Given the description of an element on the screen output the (x, y) to click on. 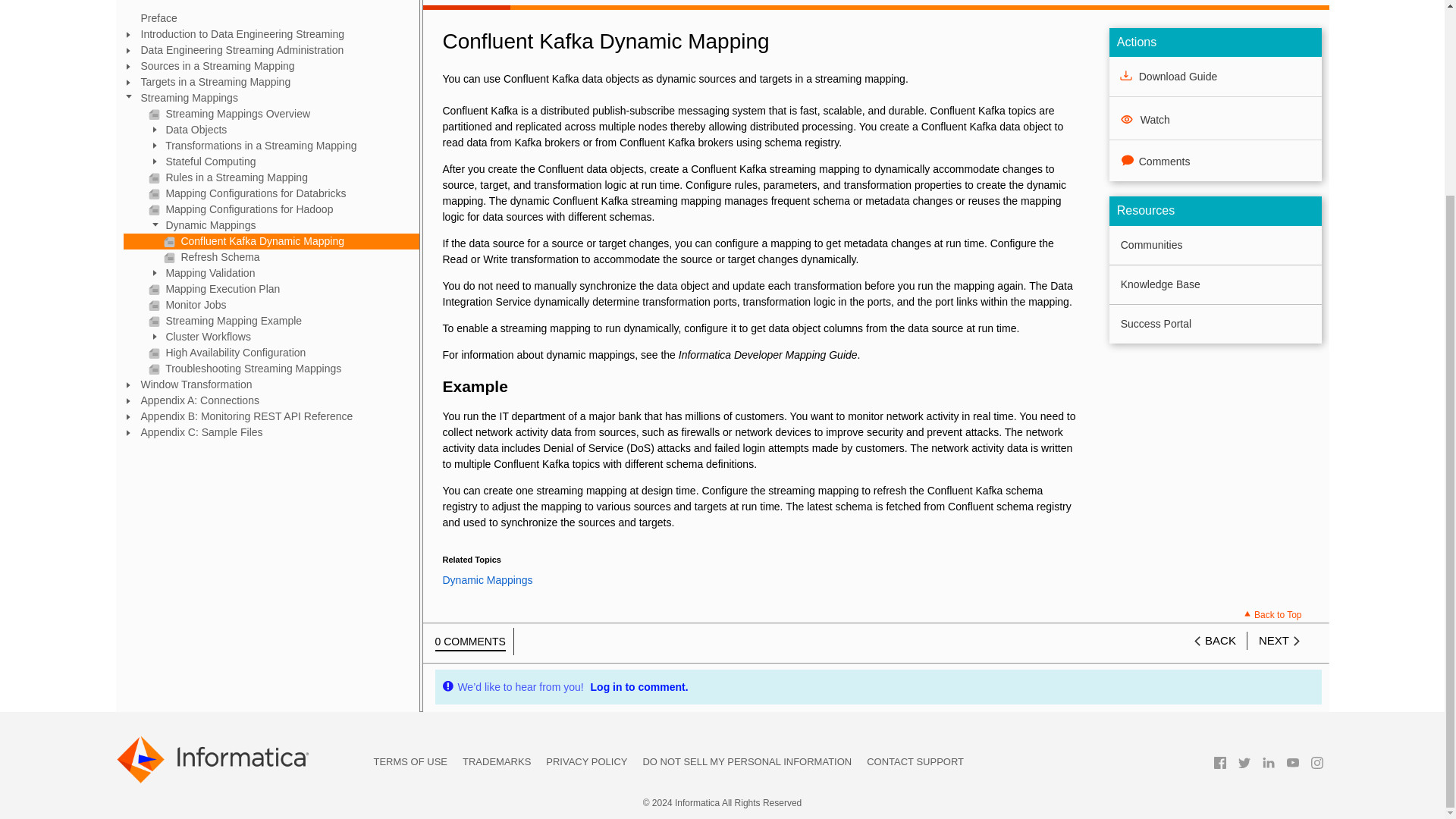
Introduction to Data Engineering Streaming (270, 34)
Preface (270, 18)
Data Engineering Streaming Administration (270, 50)
